Given the description of an element on the screen output the (x, y) to click on. 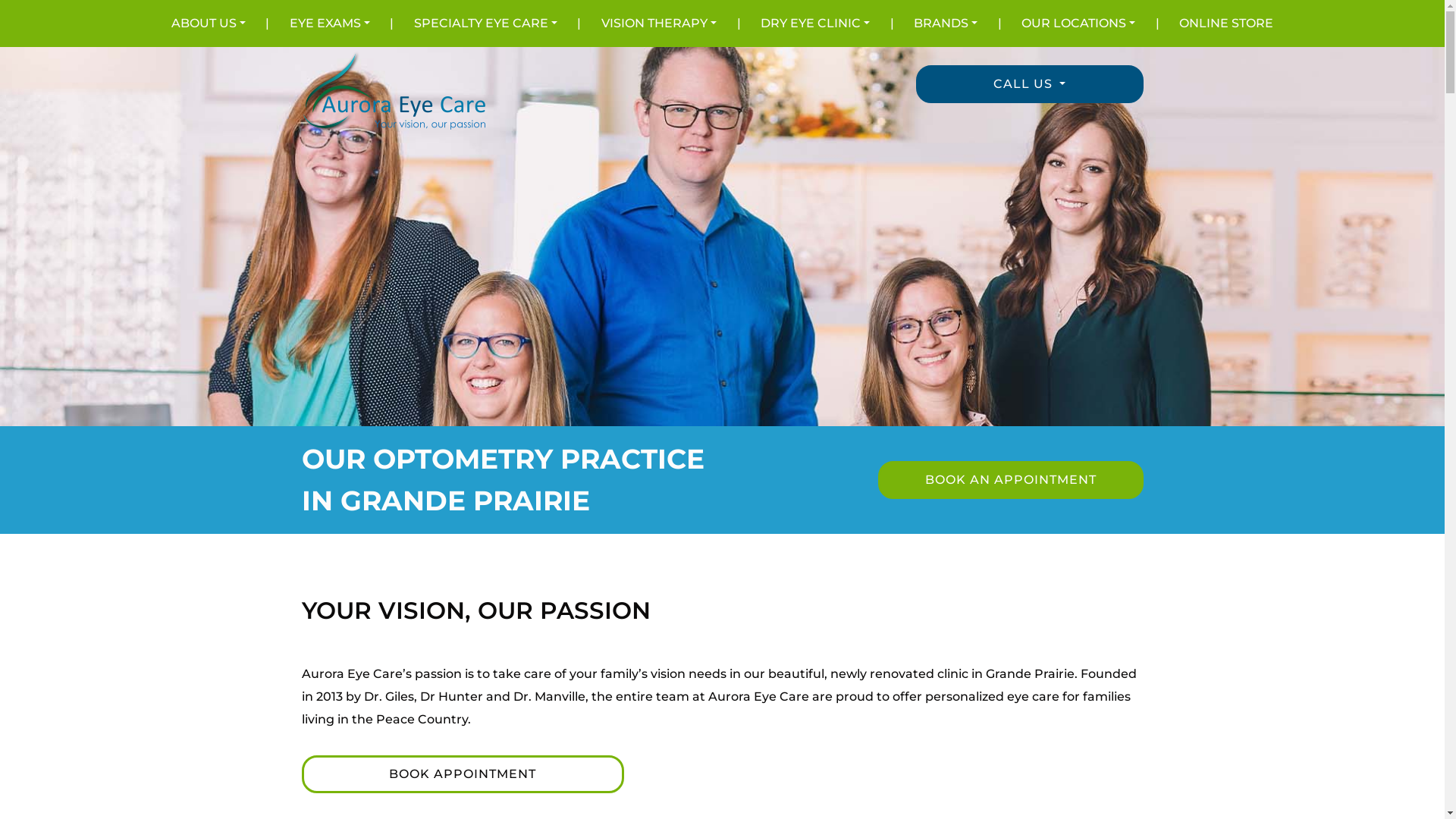
EYE EXAMS Element type: text (329, 23)
CALL US Element type: text (1029, 84)
BOOK AN APPOINTMENT Element type: text (1010, 479)
BOOK APPOINTMENT Element type: text (462, 774)
ABOUT US Element type: text (208, 23)
BRANDS Element type: text (945, 23)
OUR LOCATIONS Element type: text (1078, 23)
VISION THERAPY Element type: text (658, 23)
ONLINE STORE Element type: text (1226, 23)
DRY EYE CLINIC Element type: text (814, 23)
SPECIALTY EYE CARE Element type: text (485, 23)
